Given the description of an element on the screen output the (x, y) to click on. 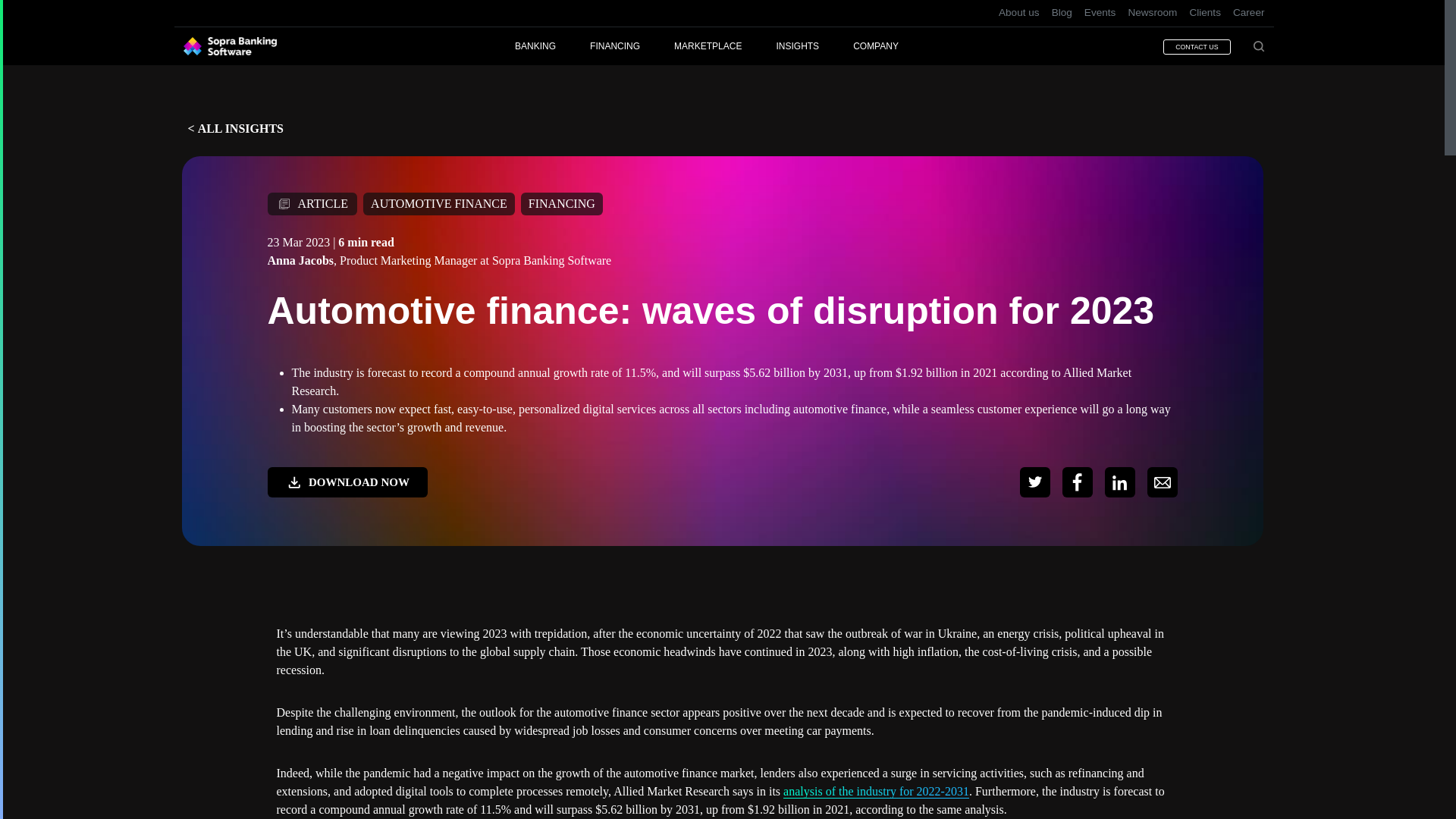
Events (1100, 12)
Newsroom (1151, 12)
Blog (1061, 12)
FINANCING (631, 46)
Back to Sopra Banking Software homepage (229, 46)
Clients (1204, 12)
About us (1018, 12)
BANKING (552, 46)
MARKETPLACE (725, 46)
Career (1246, 12)
